Given the description of an element on the screen output the (x, y) to click on. 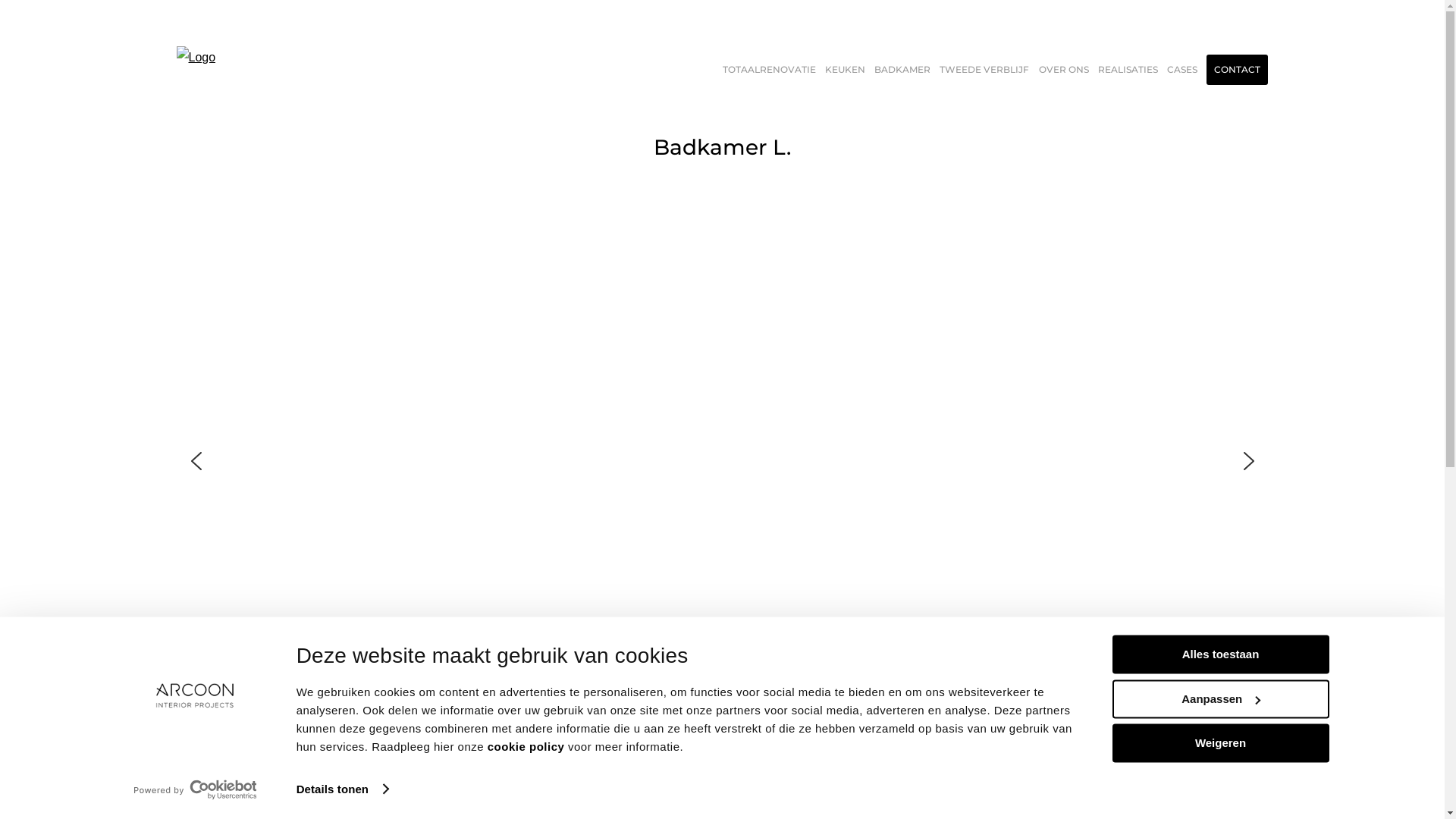
TOTAALRENOVATIE Element type: text (768, 69)
KEUKEN Element type: text (845, 69)
Contacteer ons Element type: text (1347, 754)
CONTACT Element type: text (1236, 69)
Alle realisaties Element type: text (721, 799)
BADKAMER Element type: text (902, 69)
Details tonen Element type: text (342, 789)
cookie policy Element type: text (525, 746)
TWEEDE VERBLIJF Element type: text (984, 69)
REALISATIES Element type: text (1127, 69)
Alles toestaan Element type: text (1219, 653)
OVER ONS Element type: text (1063, 69)
Aanpassen Element type: text (1219, 698)
Weigeren Element type: text (1219, 742)
CASES Element type: text (1182, 69)
